Given the description of an element on the screen output the (x, y) to click on. 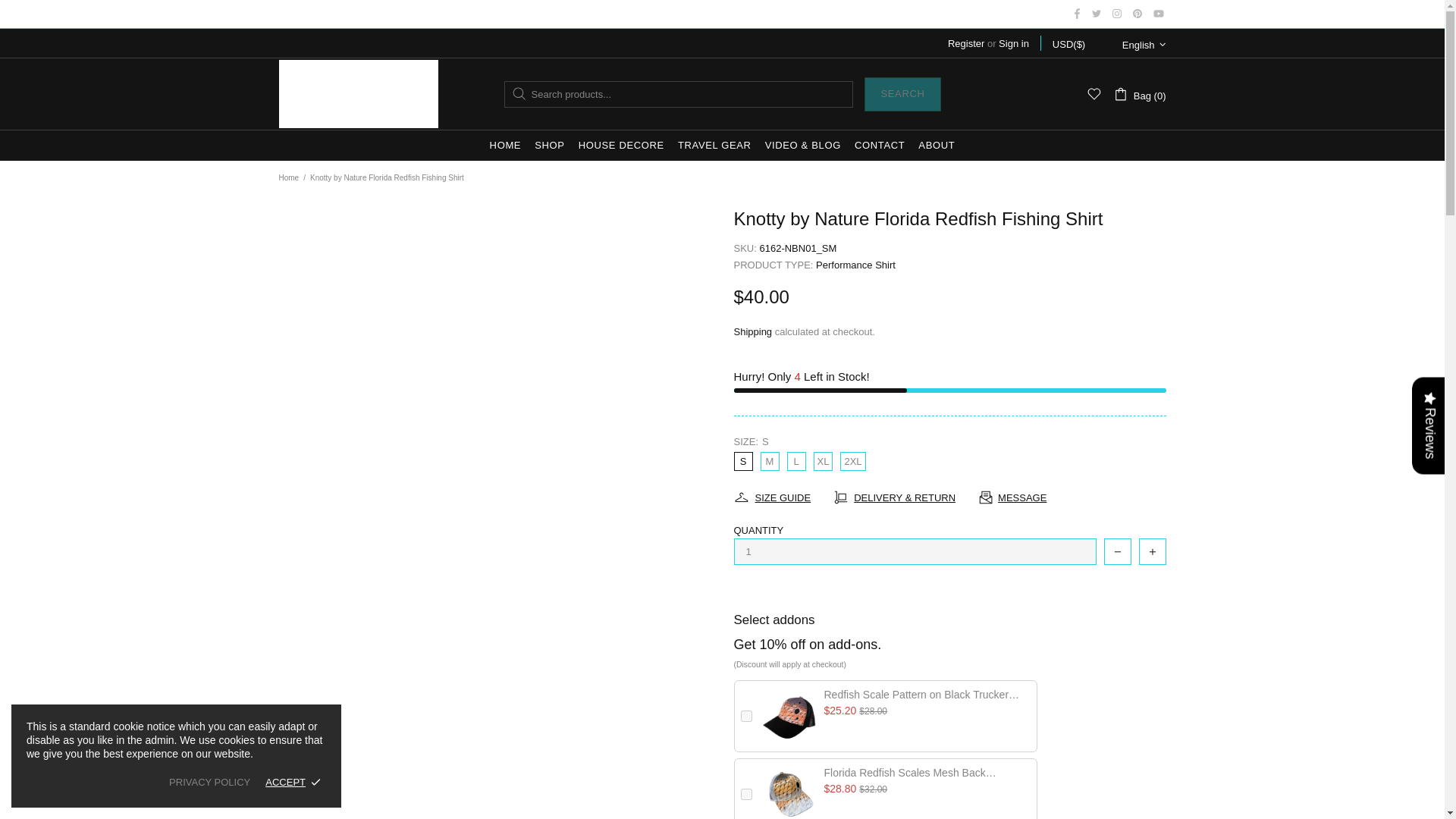
1 (914, 551)
SEARCH (902, 93)
Register (965, 42)
Sign in (1013, 42)
on (745, 794)
HOME (505, 145)
on (745, 715)
HOUSE DECORE (621, 145)
SHOP (548, 145)
TRAVEL GEAR (714, 145)
KnottyTails (358, 93)
